Given the description of an element on the screen output the (x, y) to click on. 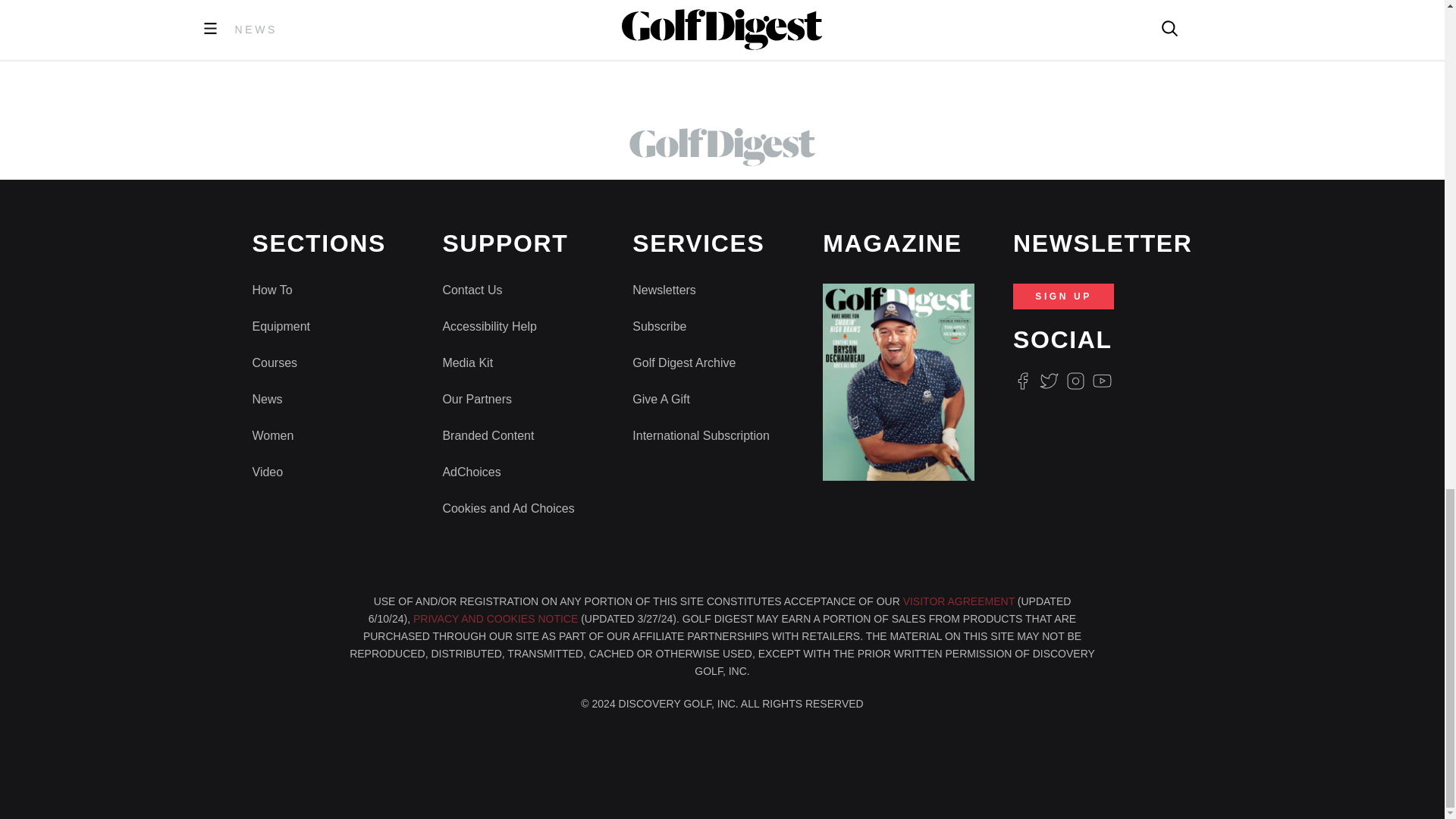
Youtube Icon (1102, 380)
Facebook Logo (1022, 380)
Twitter Logo (1048, 380)
Instagram Logo (1074, 380)
